Given the description of an element on the screen output the (x, y) to click on. 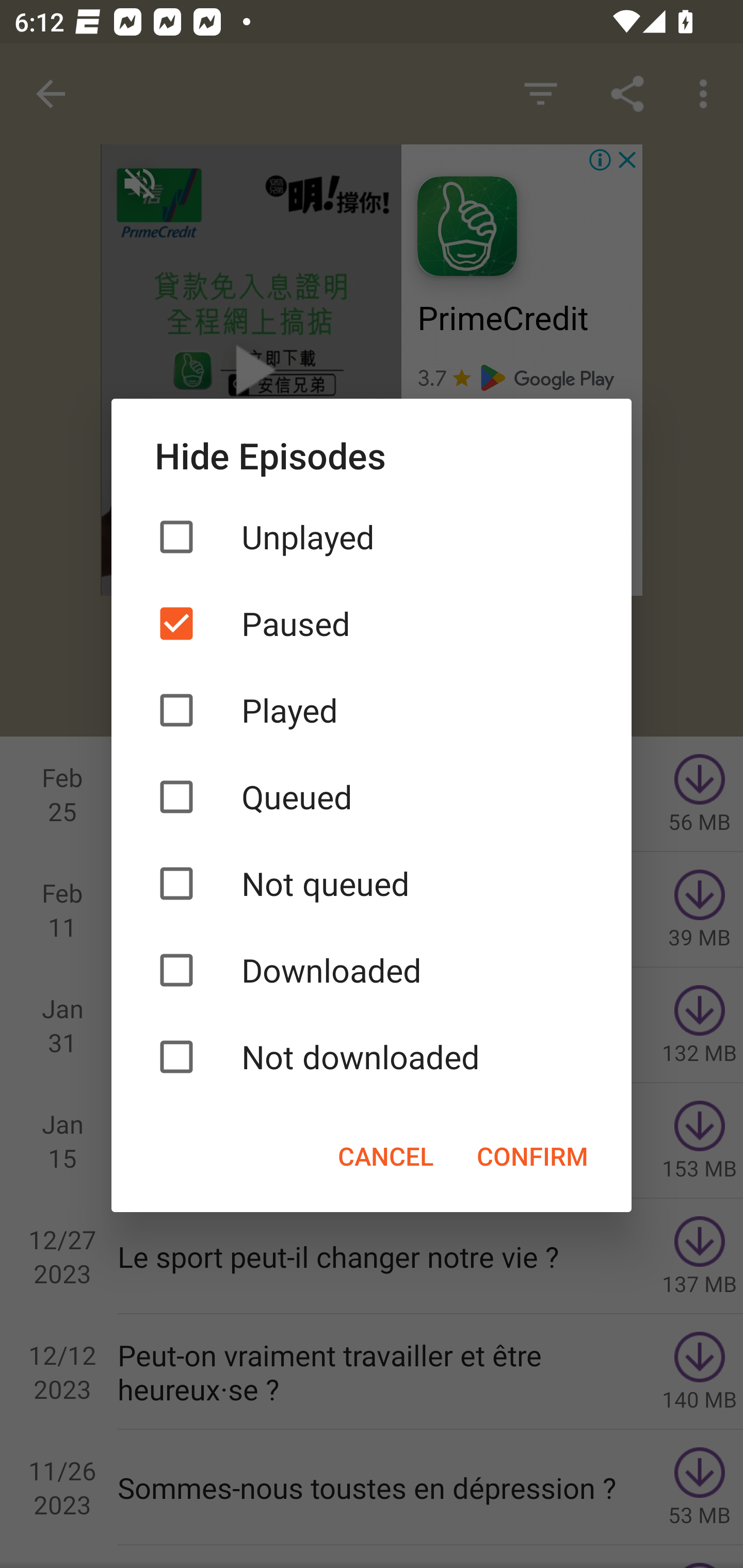
Unplayed (371, 536)
Paused (371, 623)
Played (371, 710)
Queued (371, 797)
Not queued (371, 883)
Downloaded (371, 969)
Not downloaded (371, 1056)
CANCEL (385, 1155)
CONFIRM (532, 1155)
